Given the description of an element on the screen output the (x, y) to click on. 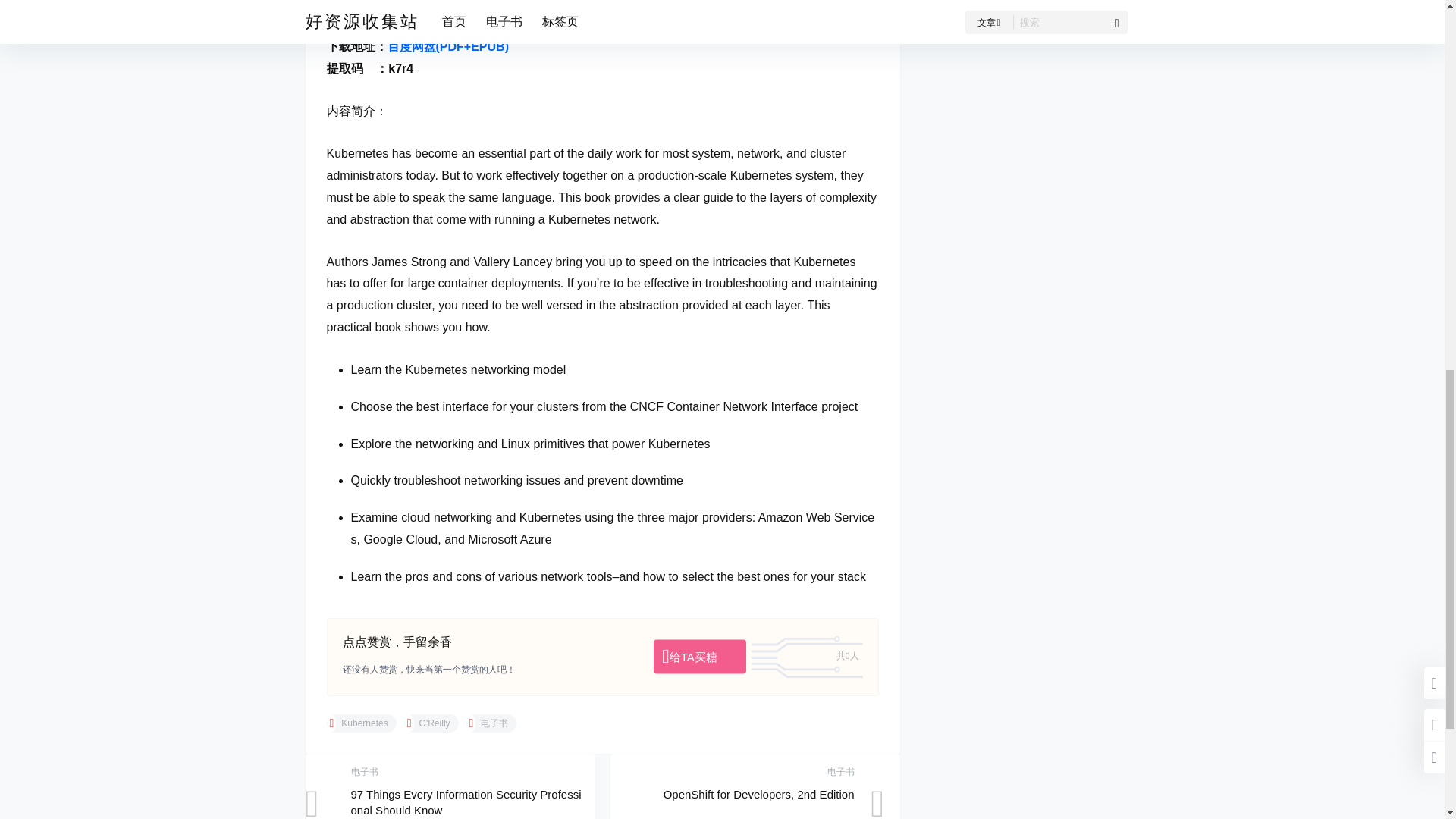
Kubernetes (361, 723)
O'Reilly (431, 723)
OpenShift for Developers, 2nd Edition (758, 793)
